Given the description of an element on the screen output the (x, y) to click on. 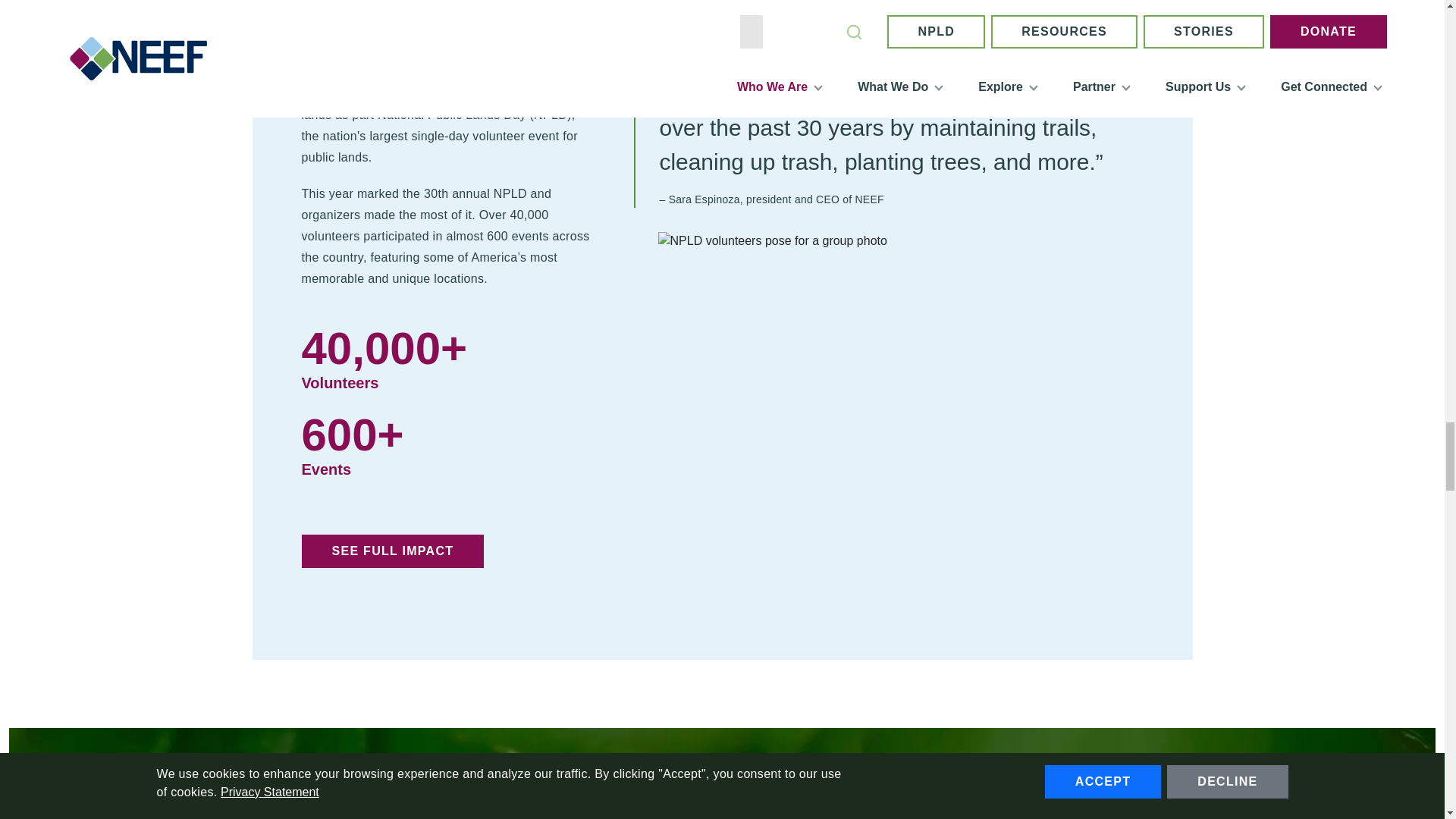
NPLD 2023 Impact (392, 551)
